Given the description of an element on the screen output the (x, y) to click on. 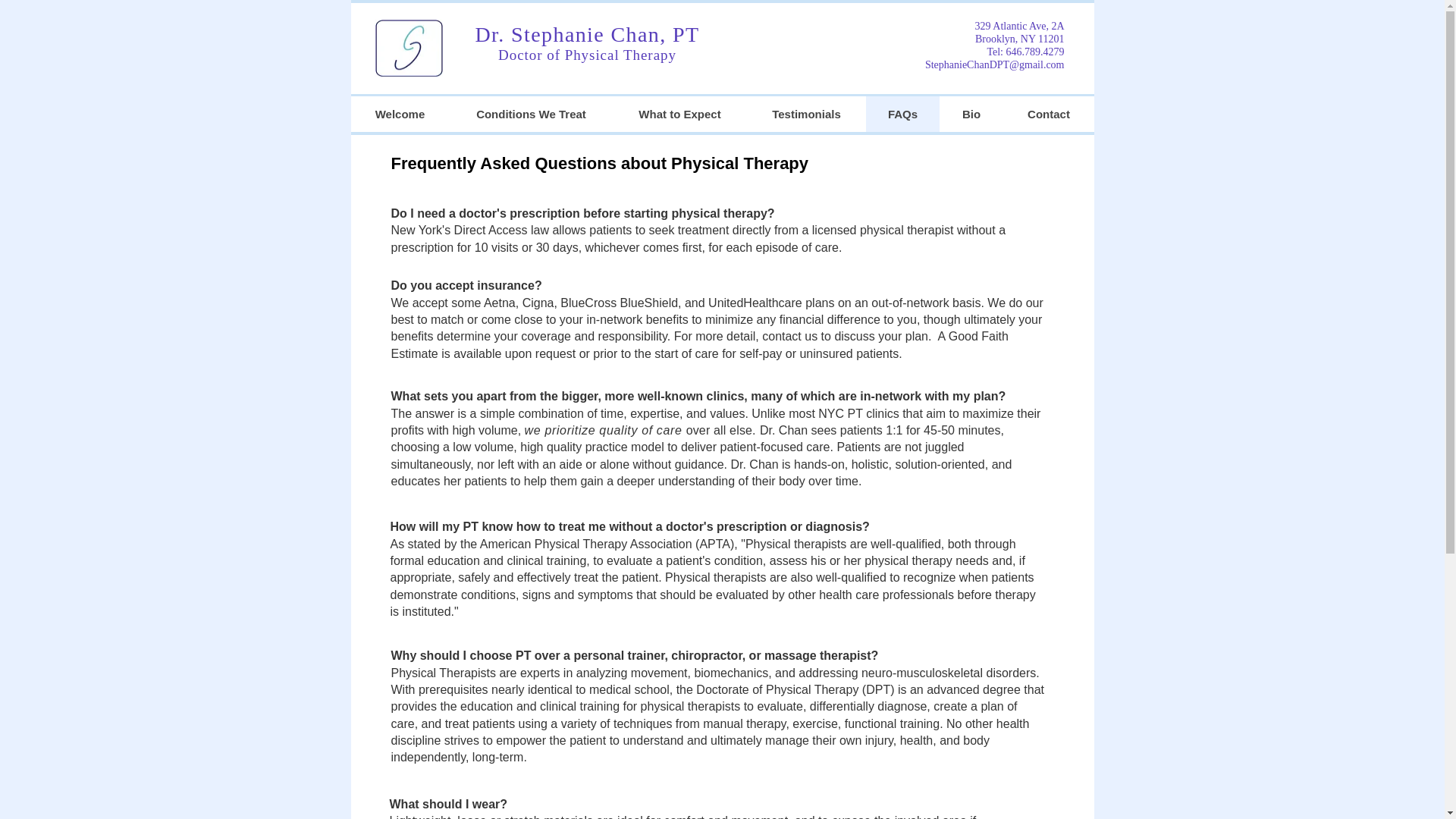
Bio (971, 114)
Dr. Stephanie Chan, PT (586, 33)
What to Expect (679, 114)
Testimonials (804, 114)
Welcome (399, 114)
Contact (1048, 114)
Conditions We Treat (529, 114)
FAQs (902, 114)
